Given the description of an element on the screen output the (x, y) to click on. 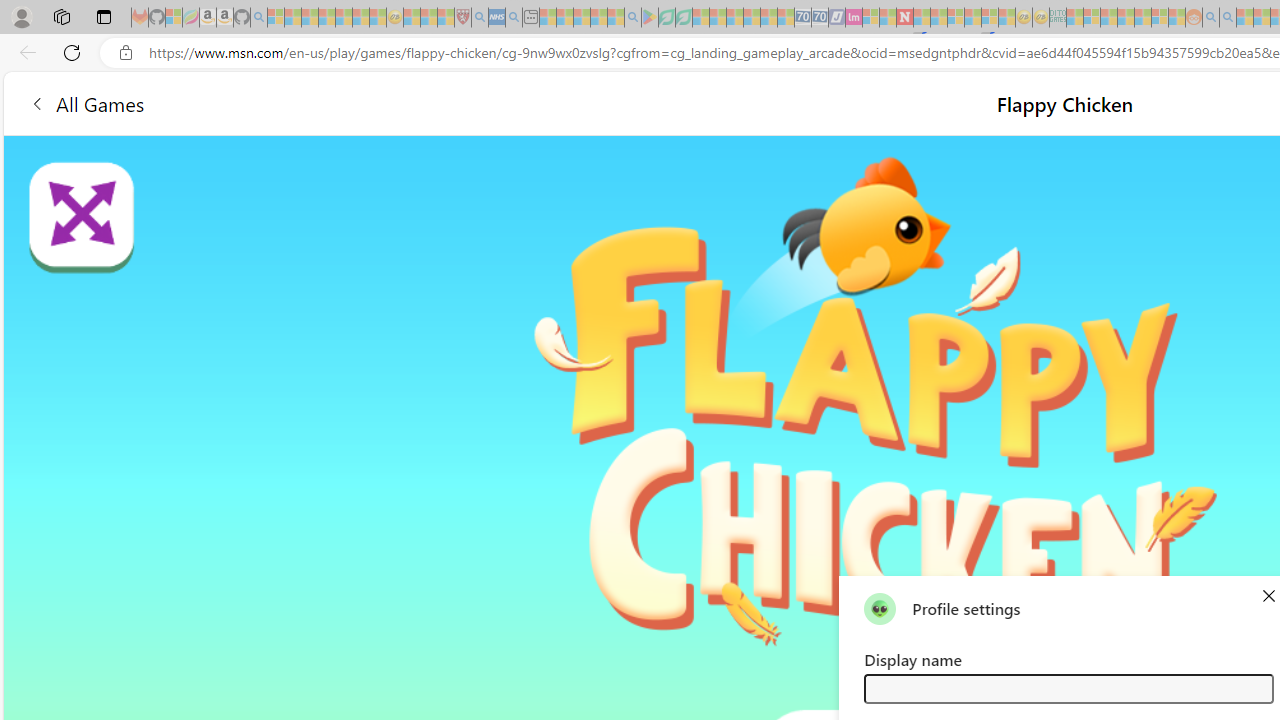
All Games (373, 102)
